Given the description of an element on the screen output the (x, y) to click on. 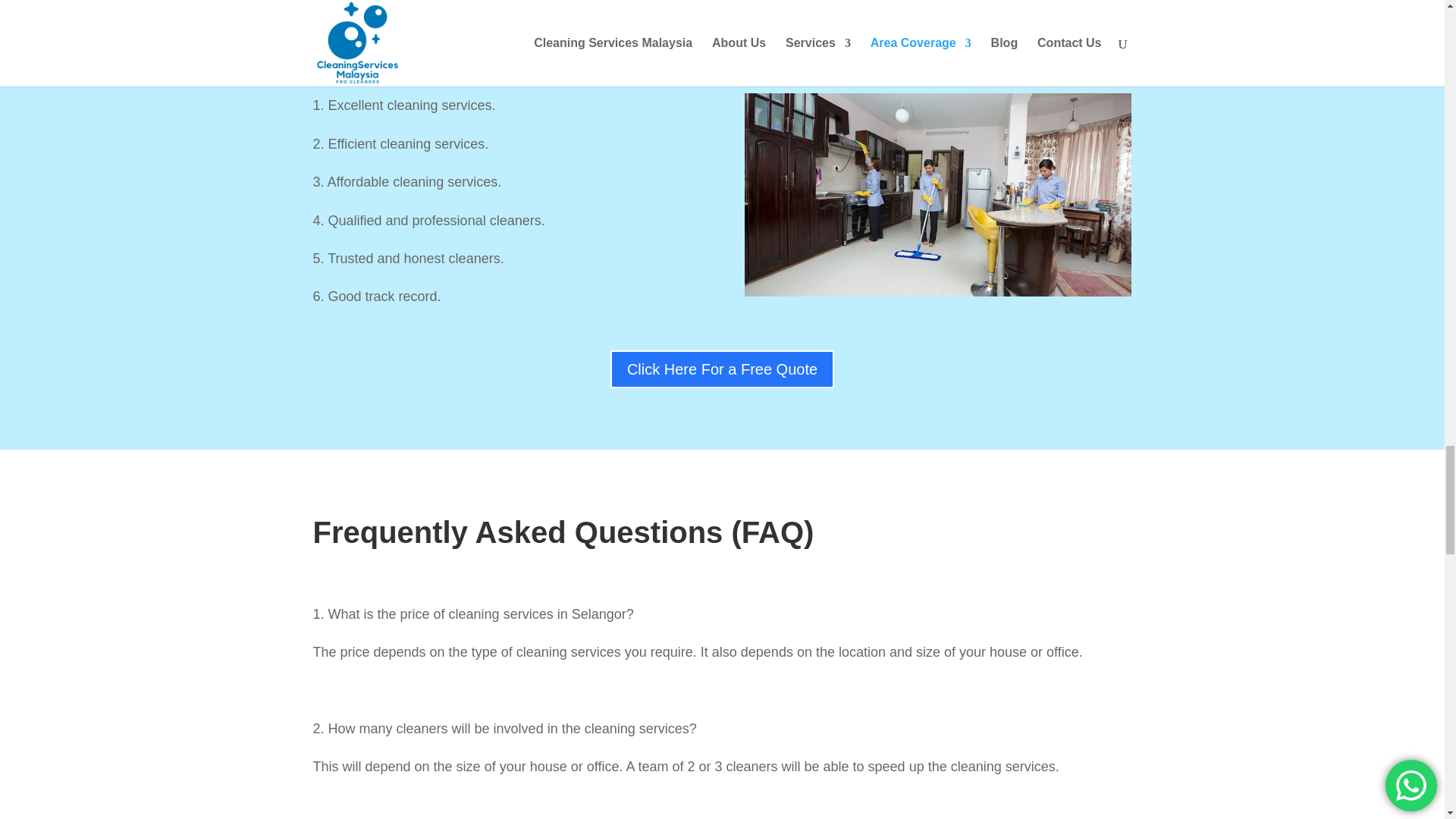
cleaning services selangor (937, 194)
